Given the description of an element on the screen output the (x, y) to click on. 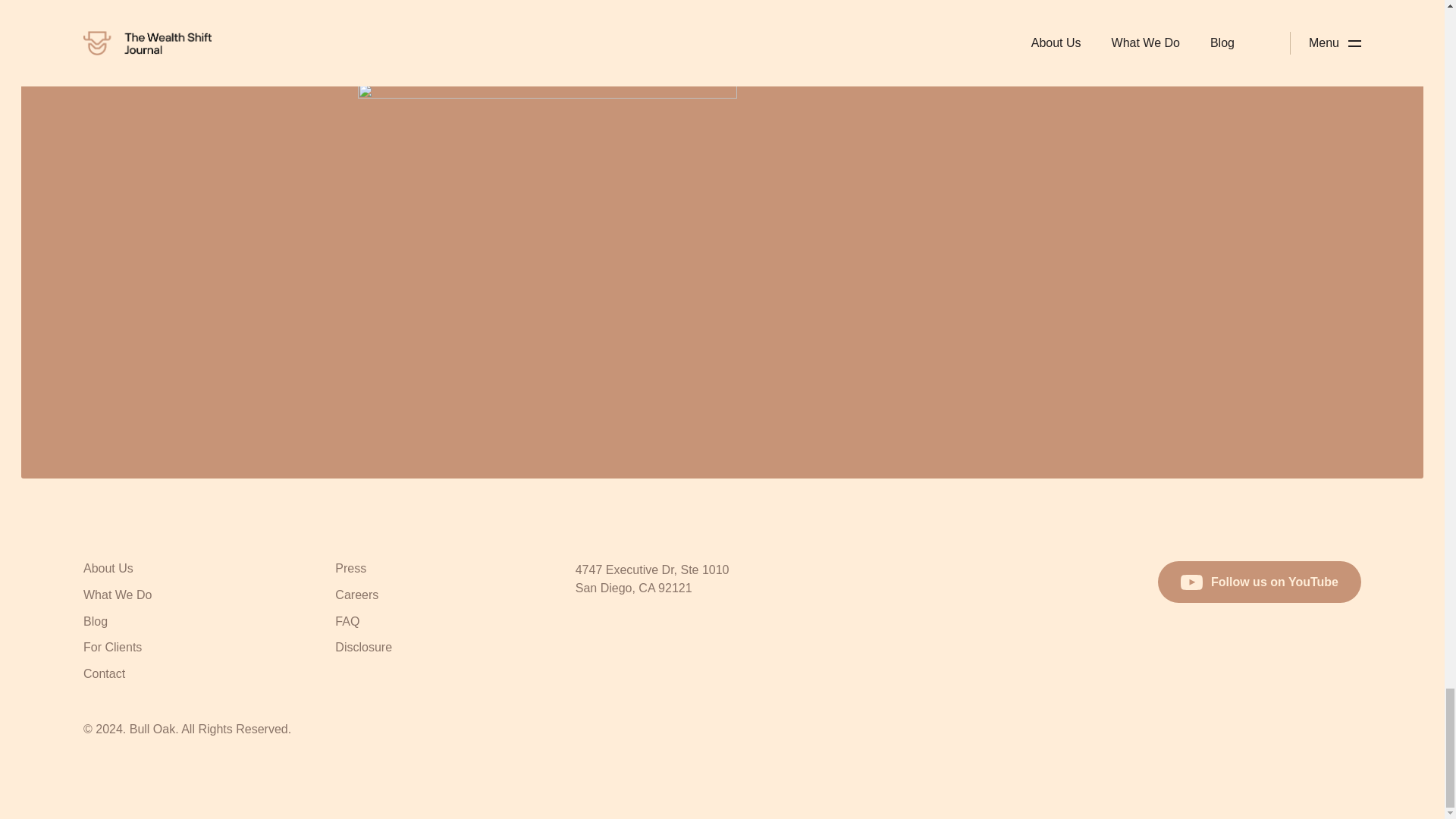
About Us (107, 569)
Careers (356, 596)
Press (350, 569)
Blog (94, 623)
For Clients (111, 648)
Disclosure (362, 648)
What We Do (116, 596)
Contact (103, 675)
Follow us on YouTube (1259, 581)
FAQ (346, 623)
